Given the description of an element on the screen output the (x, y) to click on. 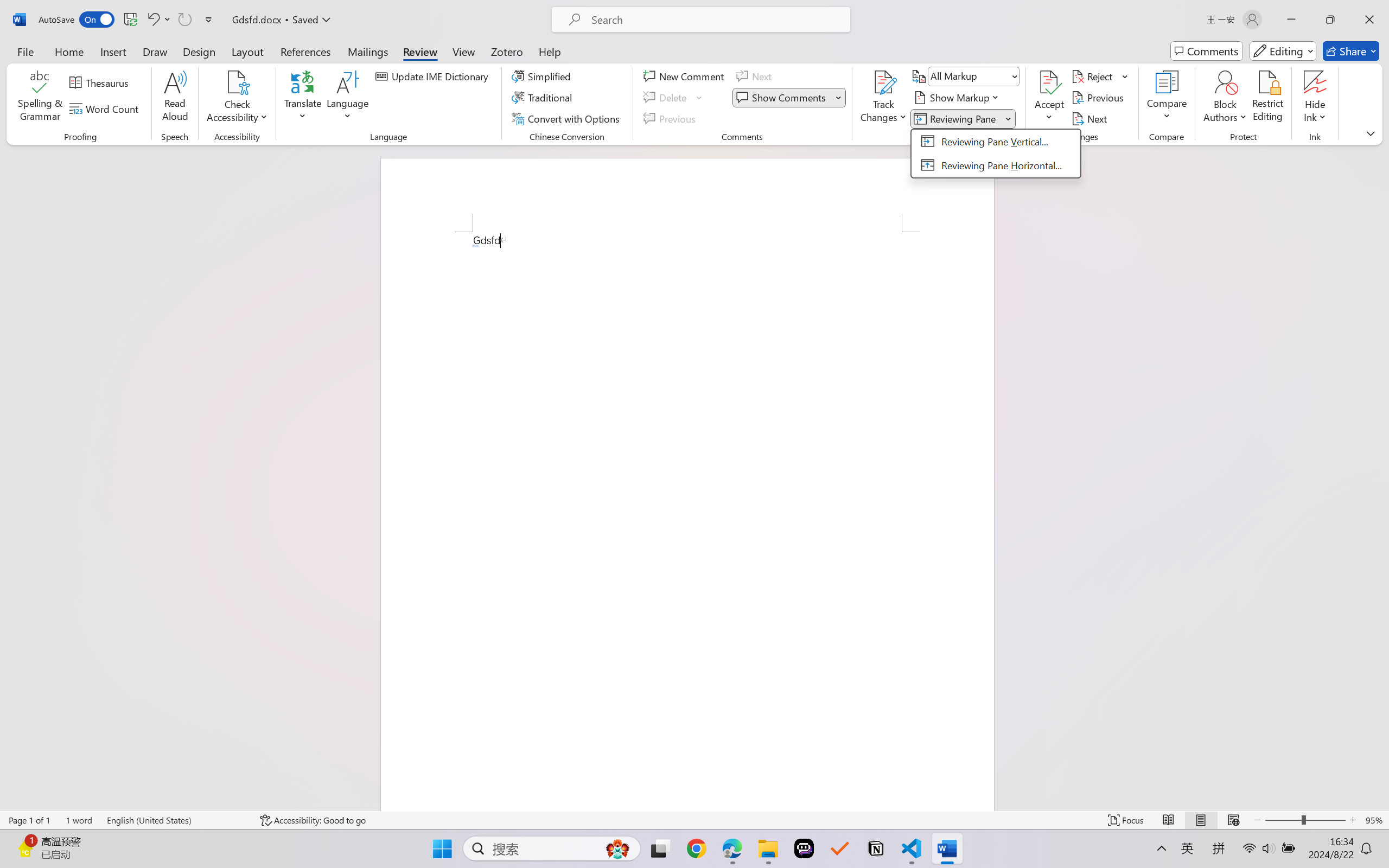
Class: MsoCommandBar (694, 819)
Zoom 95% (1374, 819)
Delete (666, 97)
Spelling & Grammar (39, 97)
